Given the description of an element on the screen output the (x, y) to click on. 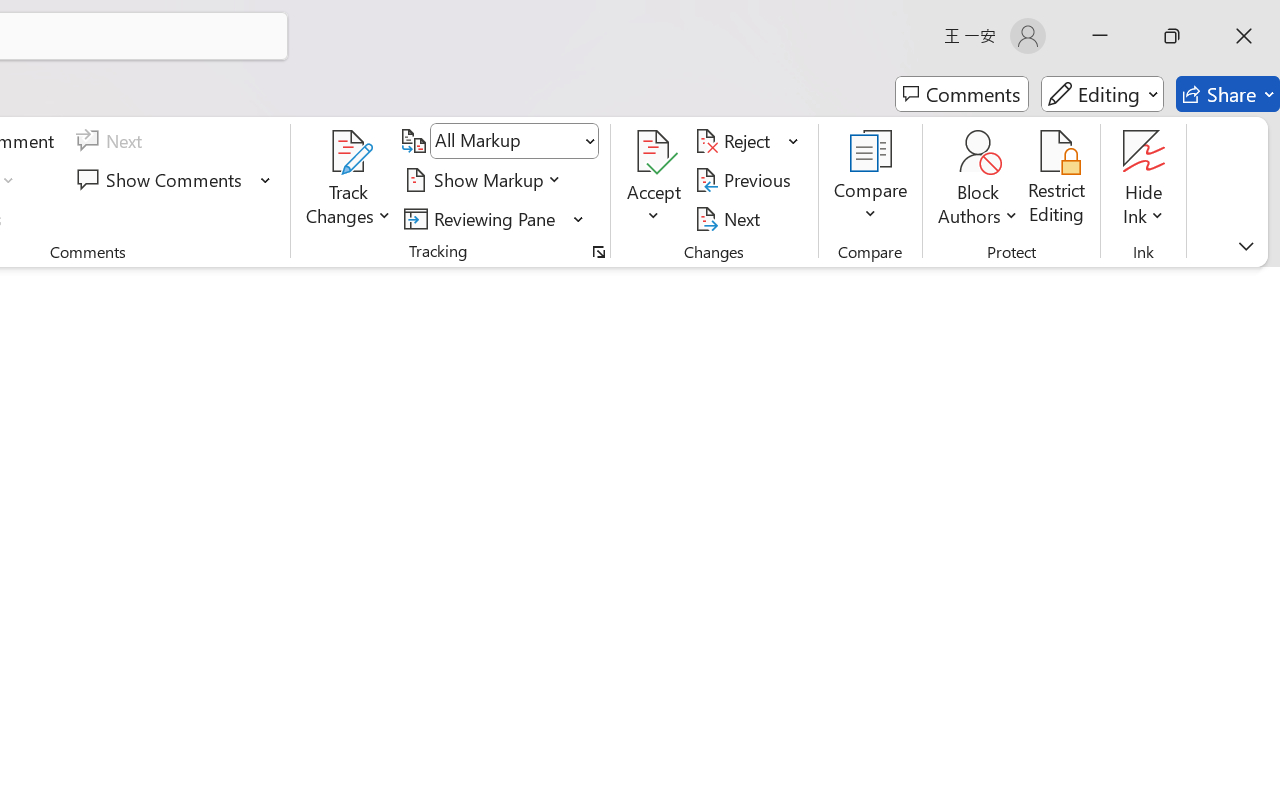
Swap "from" and "to" languages. (1105, 426)
Auto-detect (1066, 250)
Czech (1030, 455)
